Given the description of an element on the screen output the (x, y) to click on. 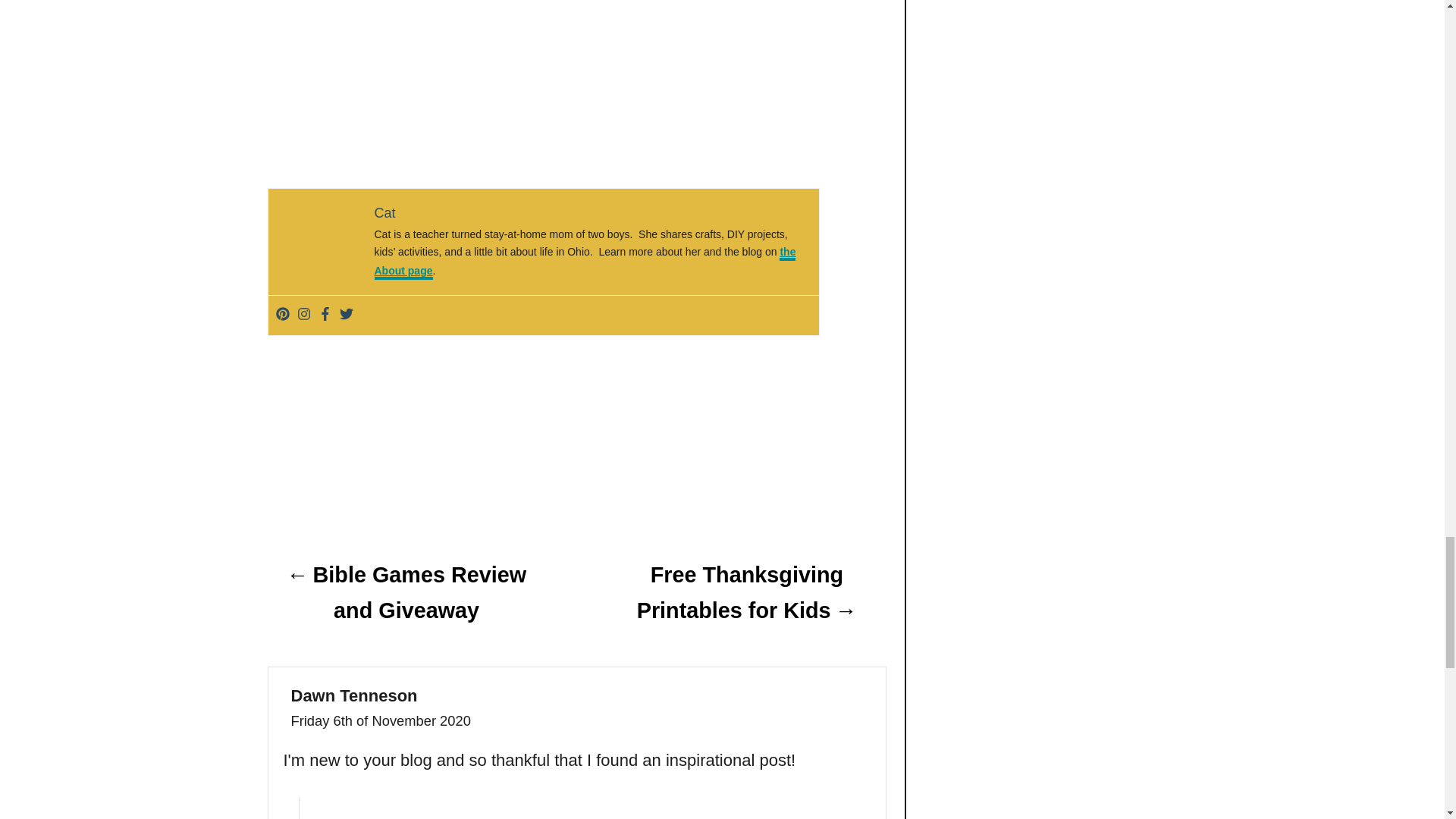
Free Thanksgiving Printables for Kids (746, 592)
Cat (385, 212)
Bible Games Review and Giveaway (405, 592)
the About page (585, 262)
